Given the description of an element on the screen output the (x, y) to click on. 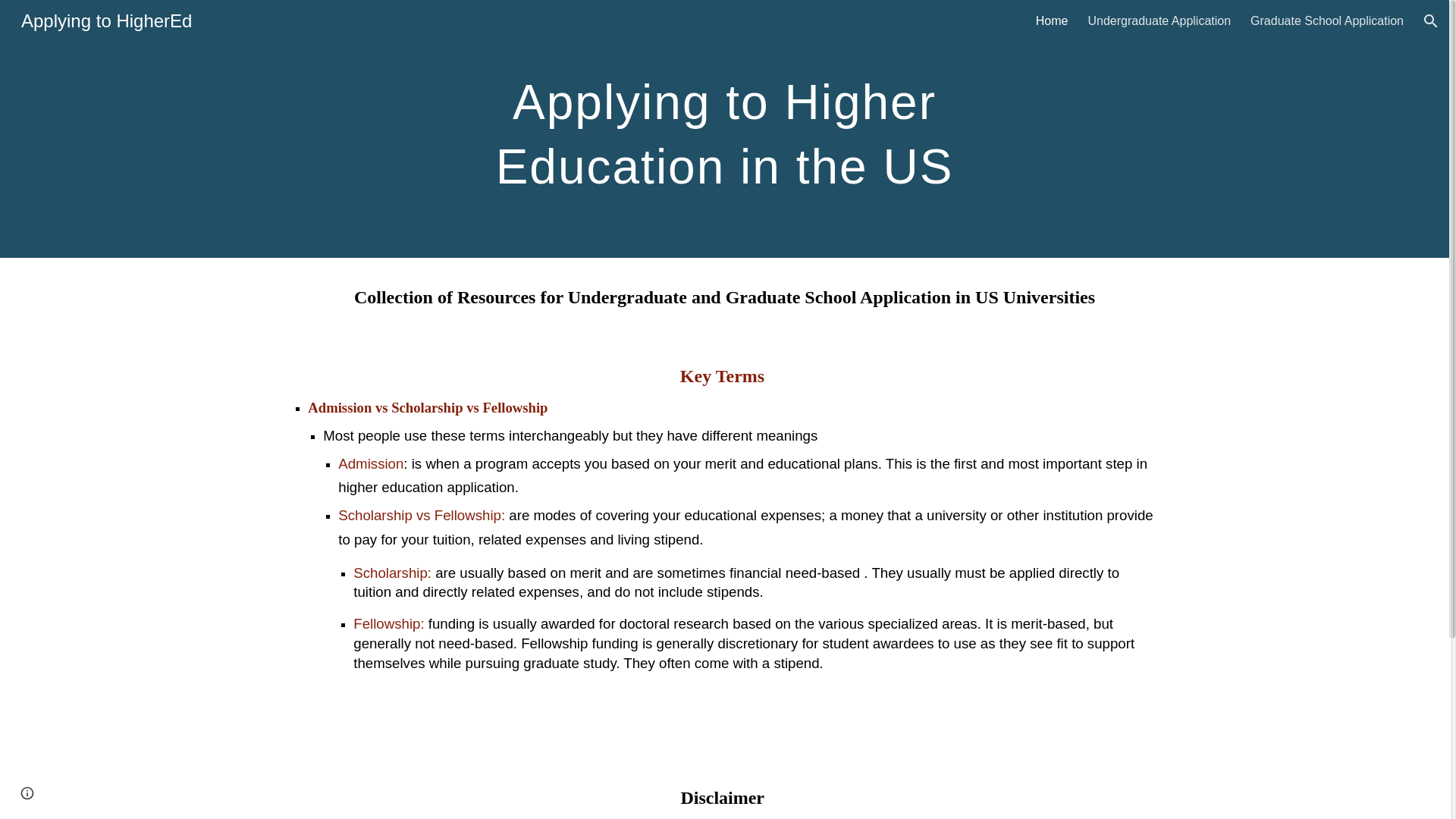
Applying to HigherEd (105, 19)
Home (1051, 20)
Undergraduate Application (1158, 20)
Graduate School Application (1326, 20)
